Given the description of an element on the screen output the (x, y) to click on. 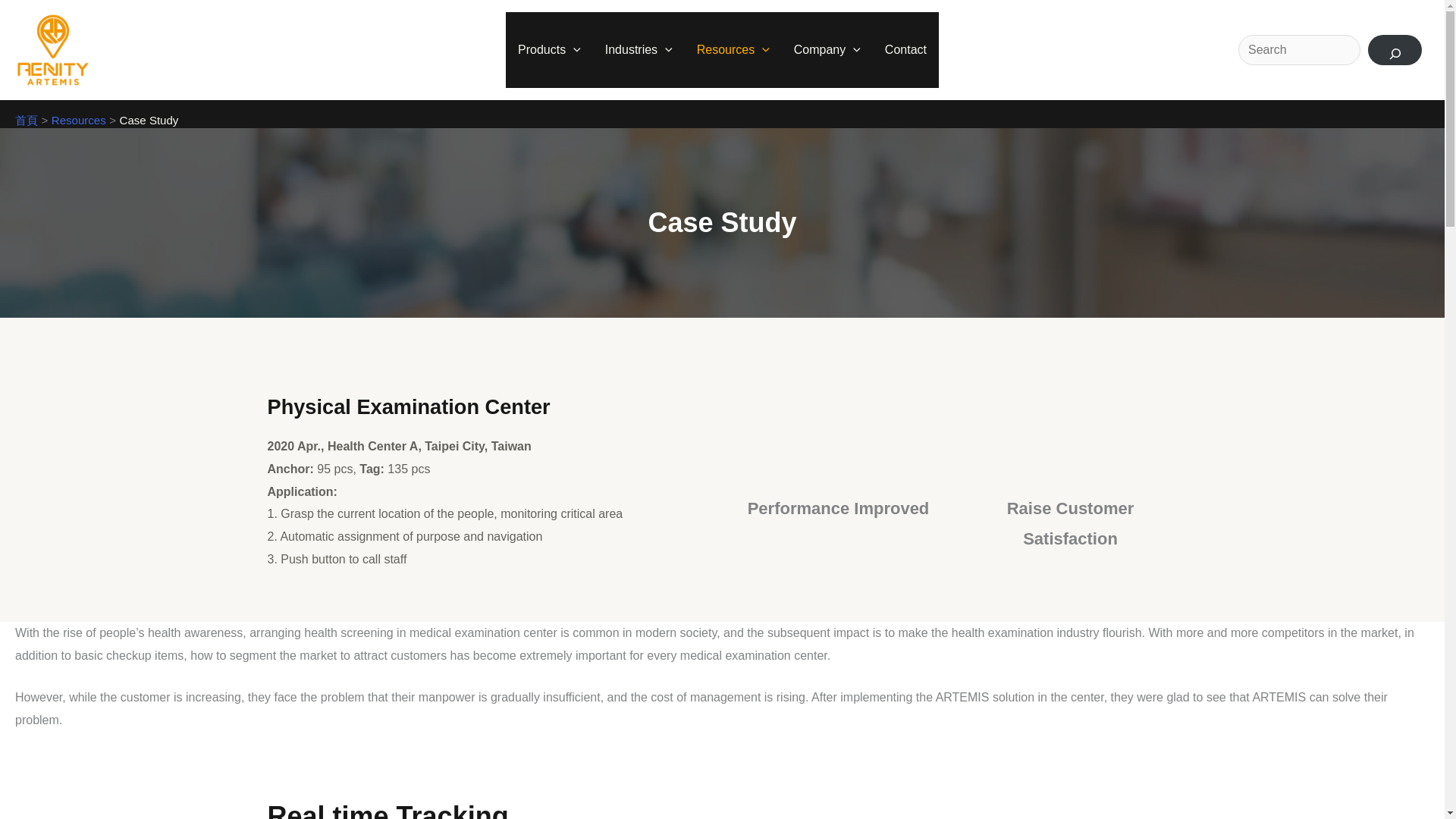
Resources (732, 49)
Products (548, 49)
Industries (638, 49)
Company (826, 49)
